Given the description of an element on the screen output the (x, y) to click on. 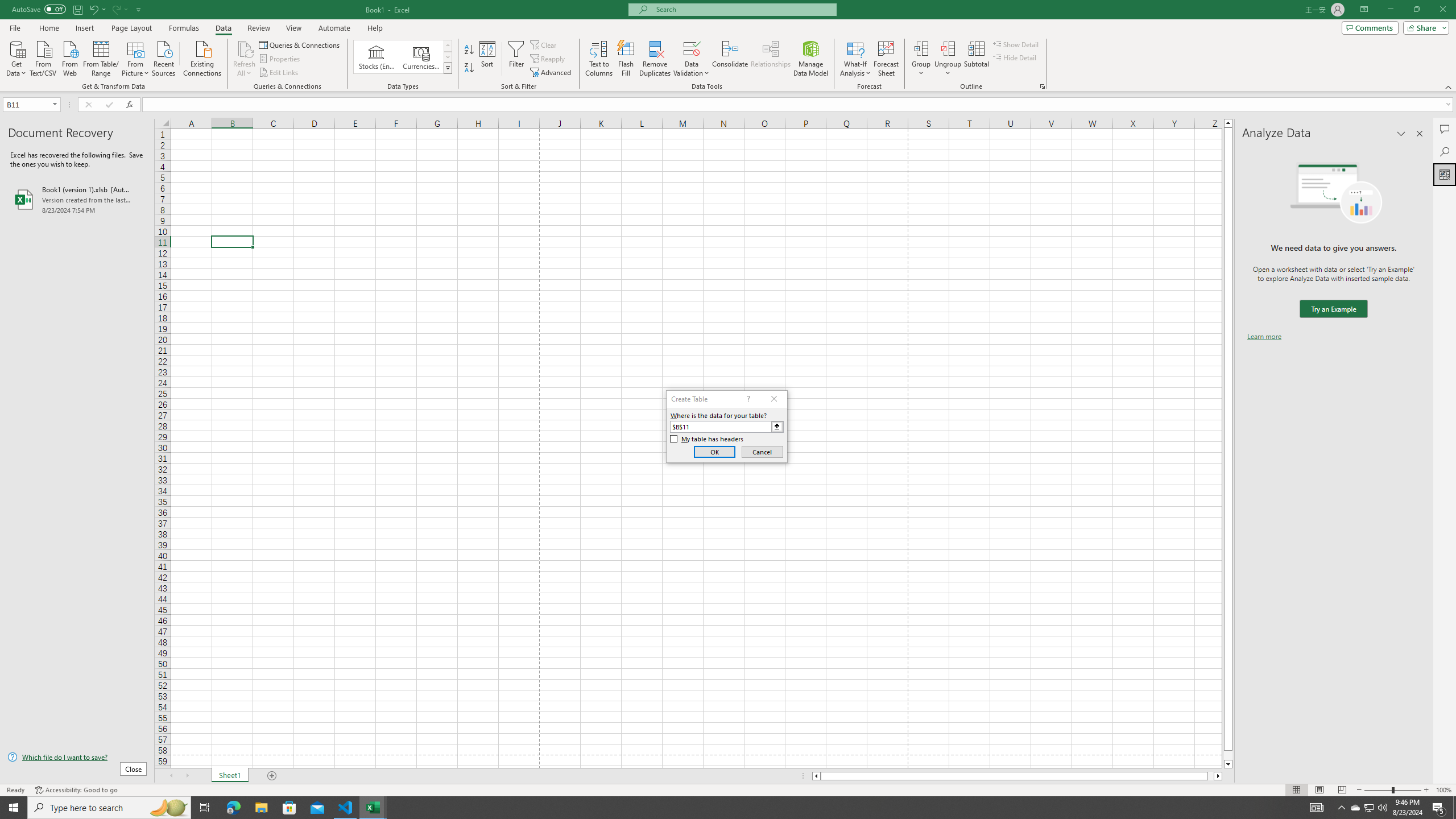
Refresh All (244, 58)
We need data to give you answers. Try an Example (1333, 308)
Edit Links (279, 72)
Consolidate... (729, 58)
Clear (544, 44)
Ungroup... (947, 58)
Close pane (1419, 133)
Advanced... (551, 72)
Queries & Connections (300, 44)
